Given the description of an element on the screen output the (x, y) to click on. 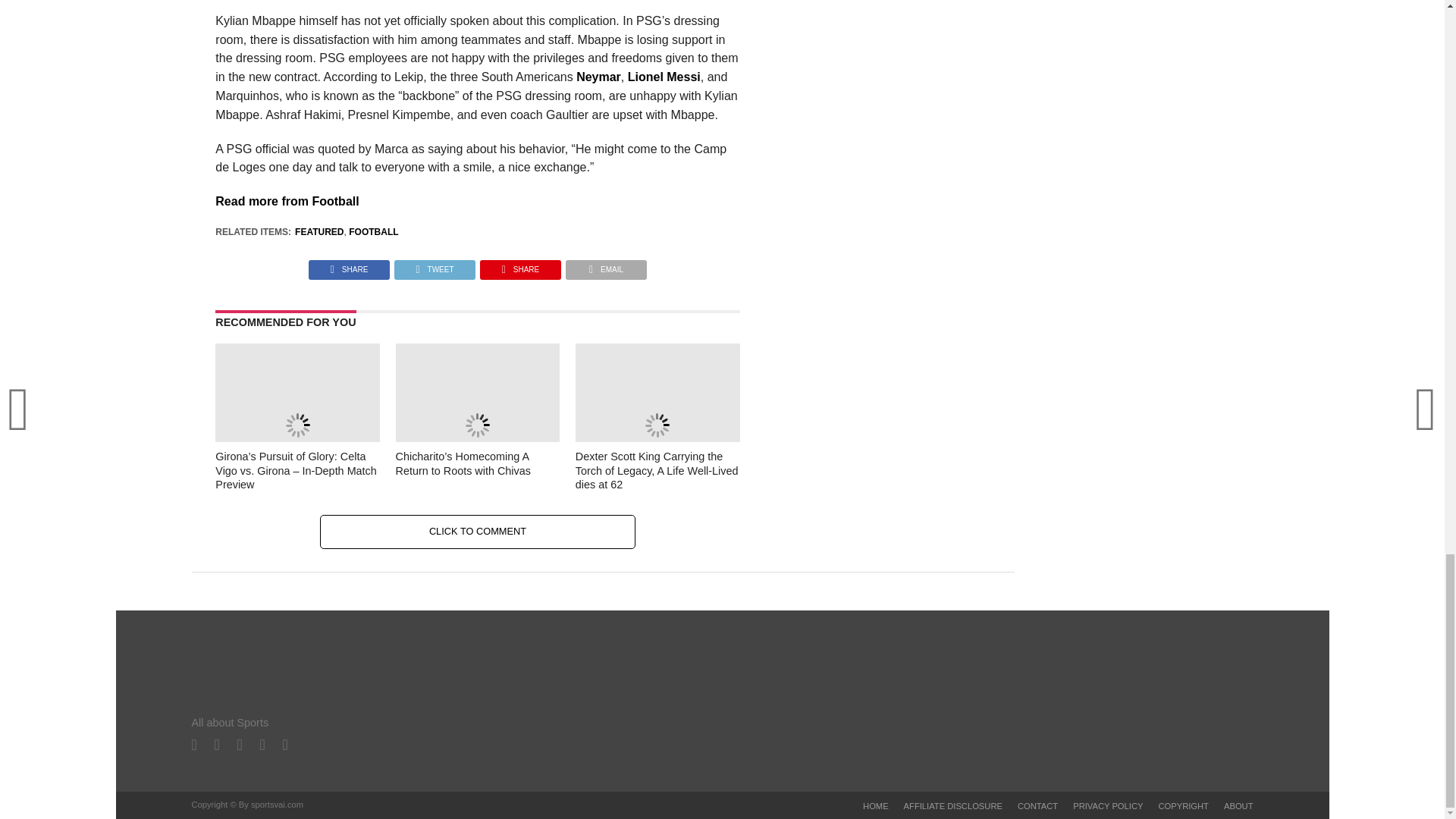
Share on Facebook (349, 265)
Tweet This Post (434, 265)
Pin This Post (520, 265)
